Given the description of an element on the screen output the (x, y) to click on. 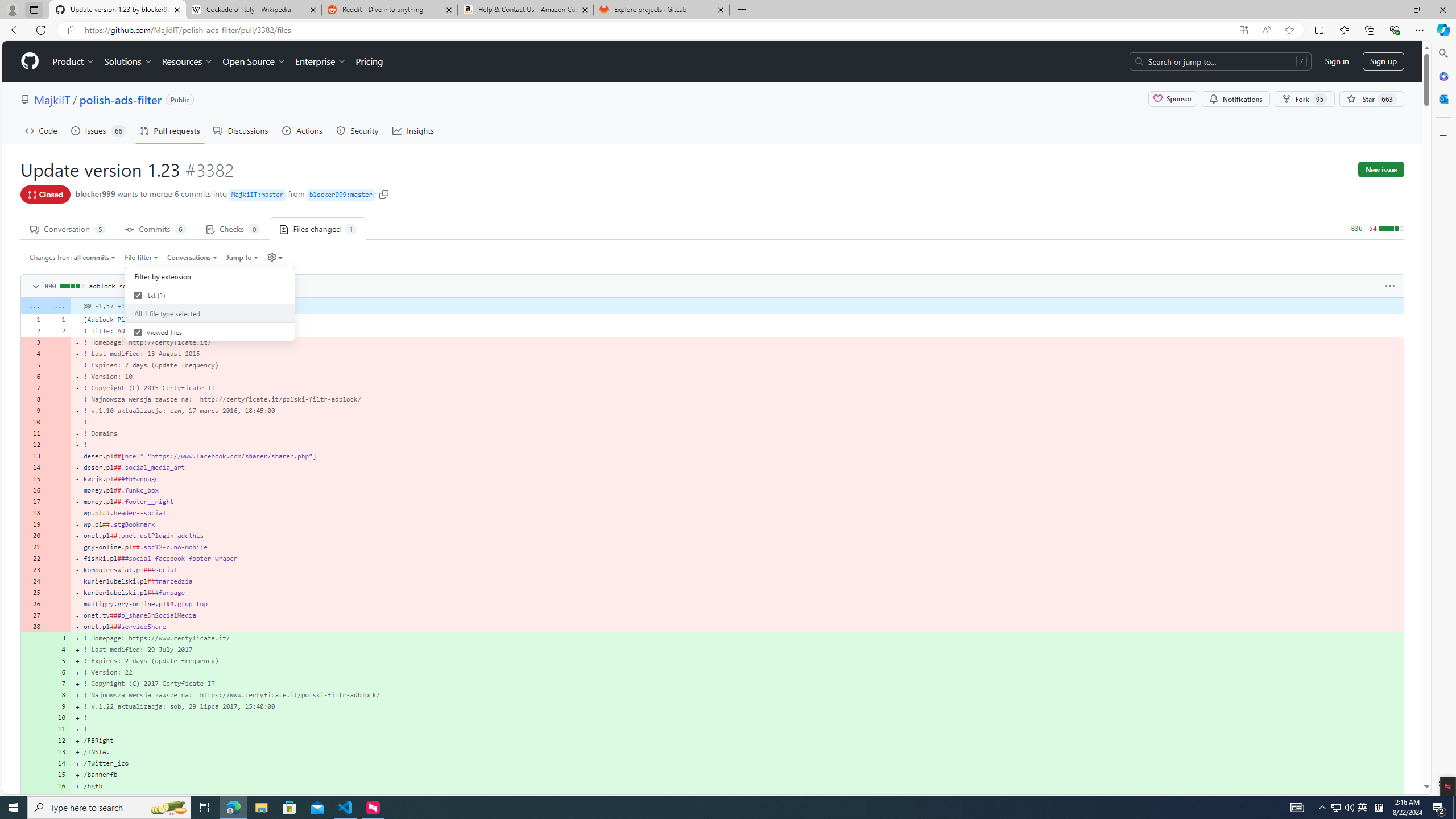
MajkiIT : master (257, 195)
- kurierlubelski.pl###narzedzia (737, 581)
21 (33, 546)
Discussions (240, 130)
- ! Copyright (C) 2015 Certyficate IT (737, 387)
Product (74, 60)
Issues66 (98, 130)
Viewed files (137, 331)
 Files changed 1 (317, 228)
- money.pl##.funkc_box (737, 490)
Insights (413, 130)
+ /INSTA.  (737, 751)
